Given the description of an element on the screen output the (x, y) to click on. 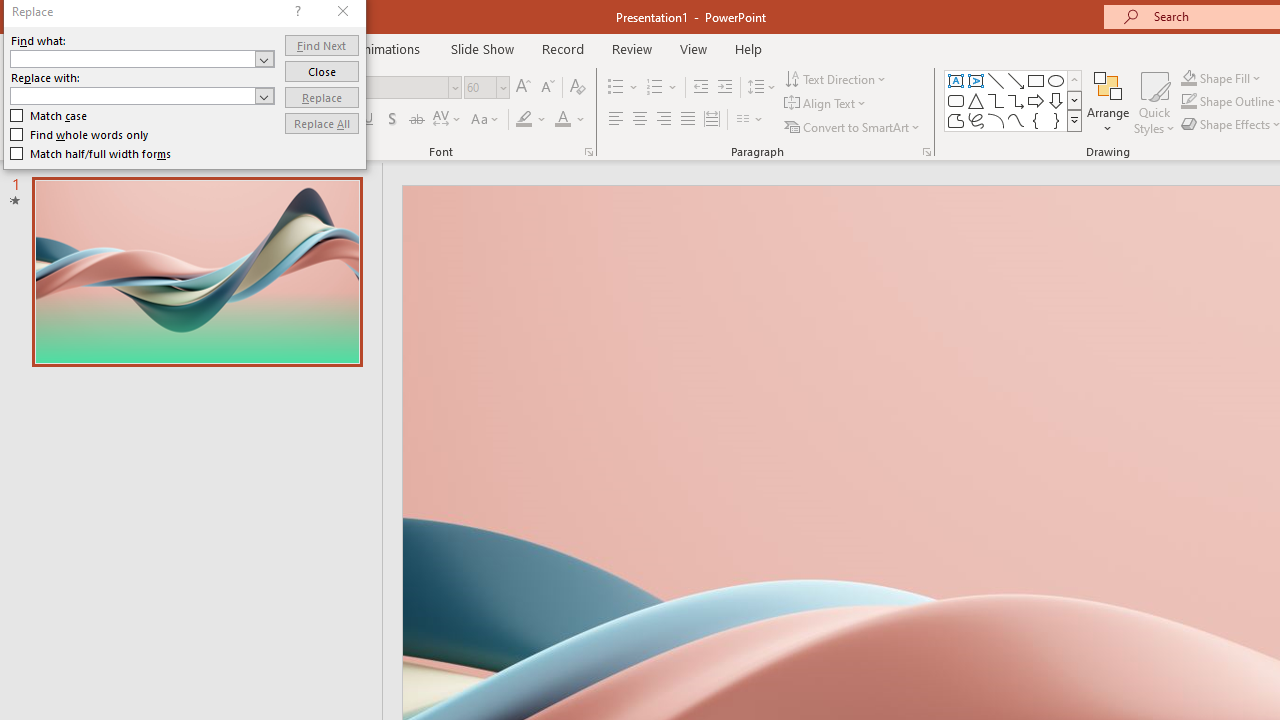
Find Next (321, 44)
